Given the description of an element on the screen output the (x, y) to click on. 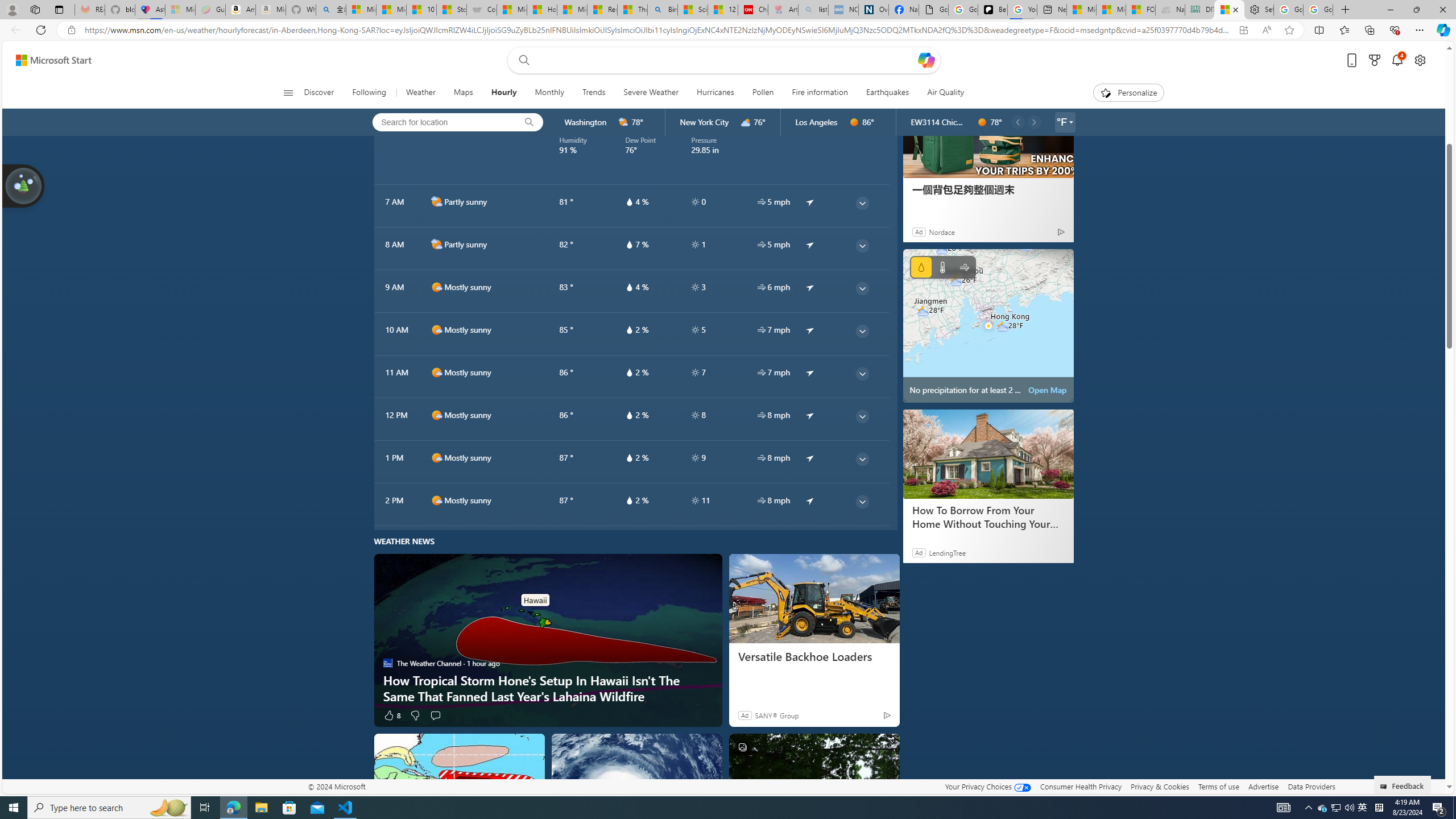
Trends (593, 92)
Class: button-glyph (287, 92)
common/arrow (809, 500)
Your Privacy Choices (987, 785)
FOX News - MSN (1140, 9)
Pollen (762, 92)
